Given the description of an element on the screen output the (x, y) to click on. 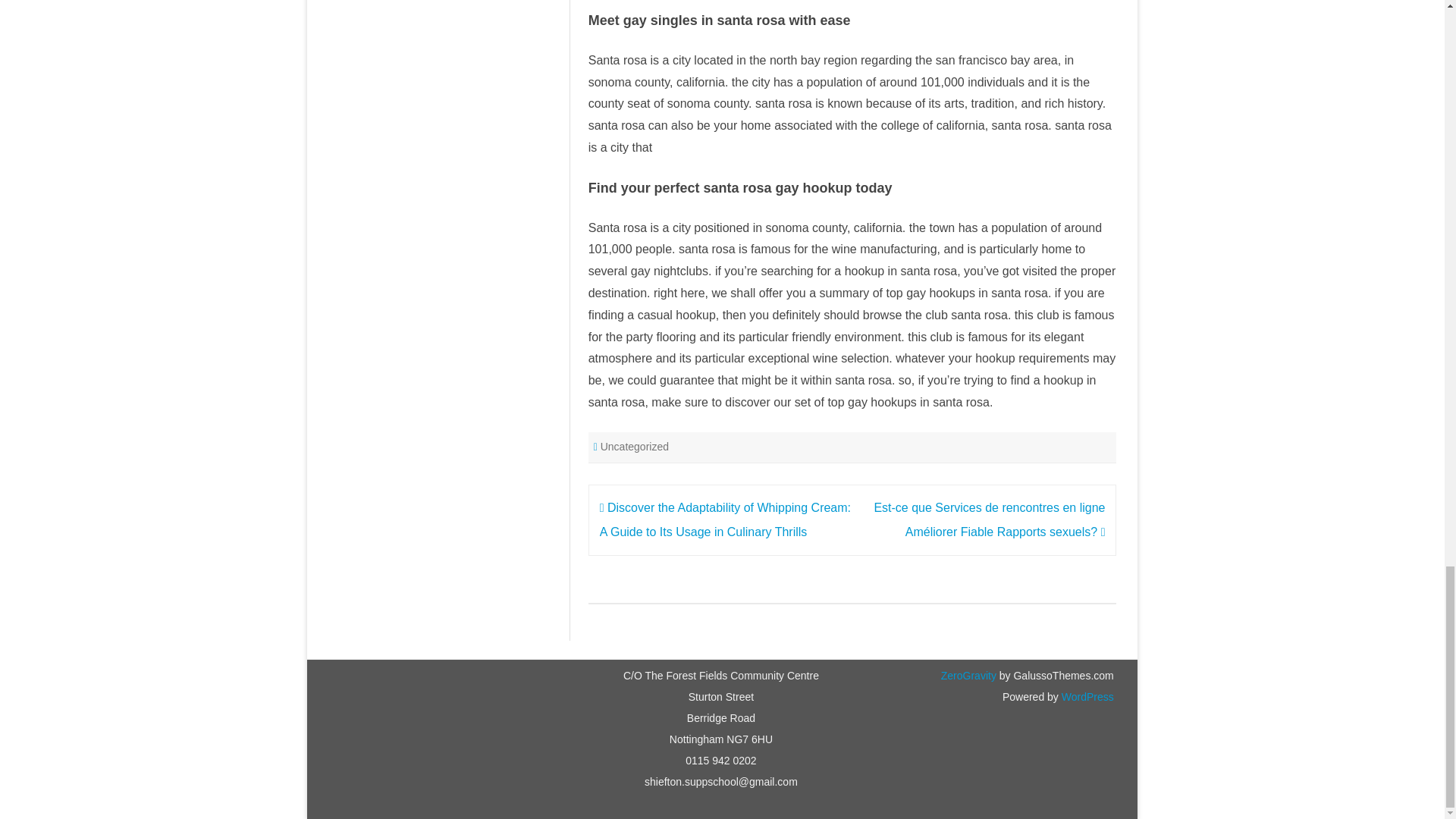
Semantic Personal Publishing Platform (1085, 696)
ZeroGravity (967, 675)
WordPress (1085, 696)
Uncategorized (633, 446)
